Given the description of an element on the screen output the (x, y) to click on. 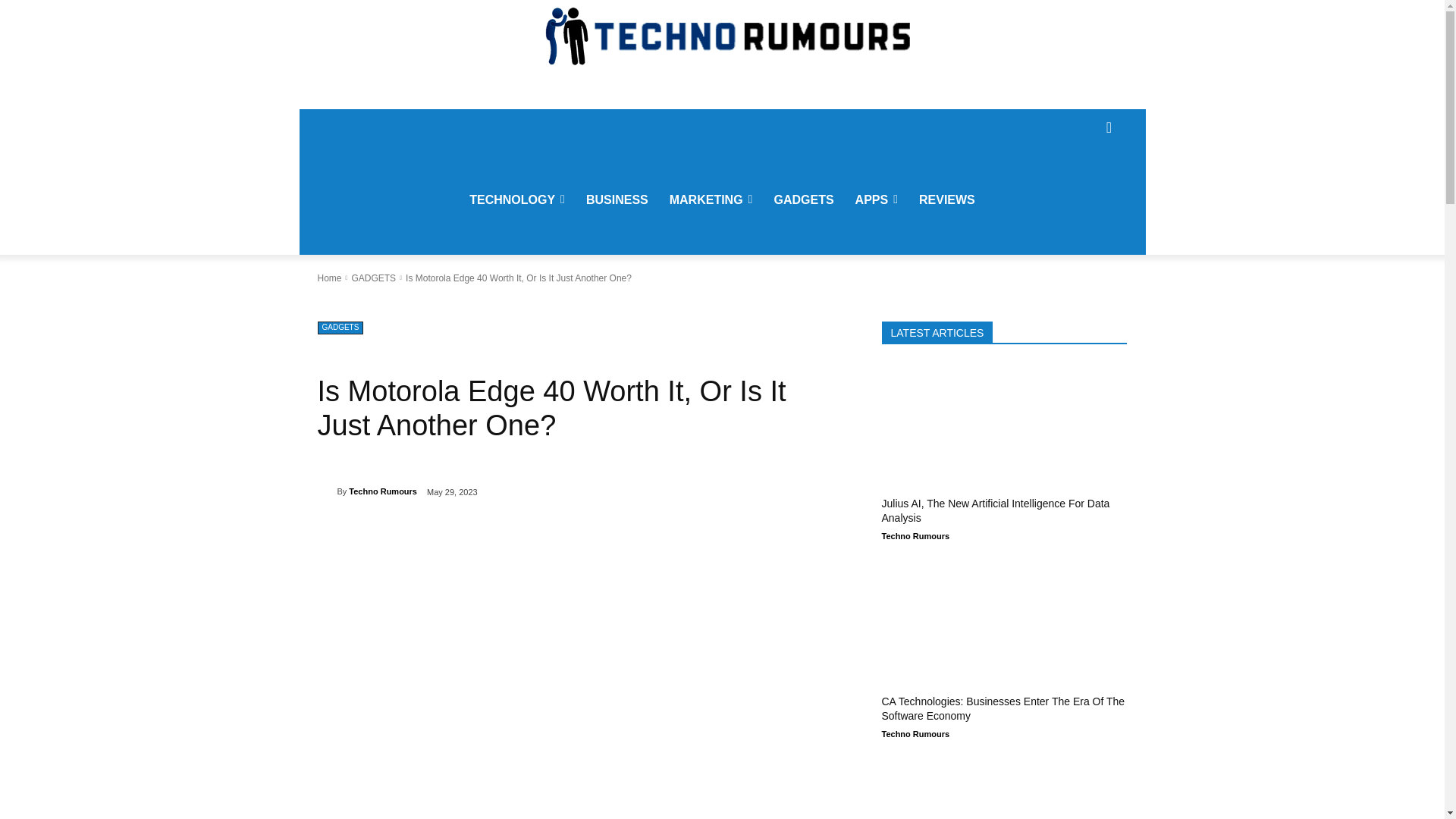
TECHNOLOGY (516, 199)
View all posts in GADGETS (373, 277)
